Given the description of an element on the screen output the (x, y) to click on. 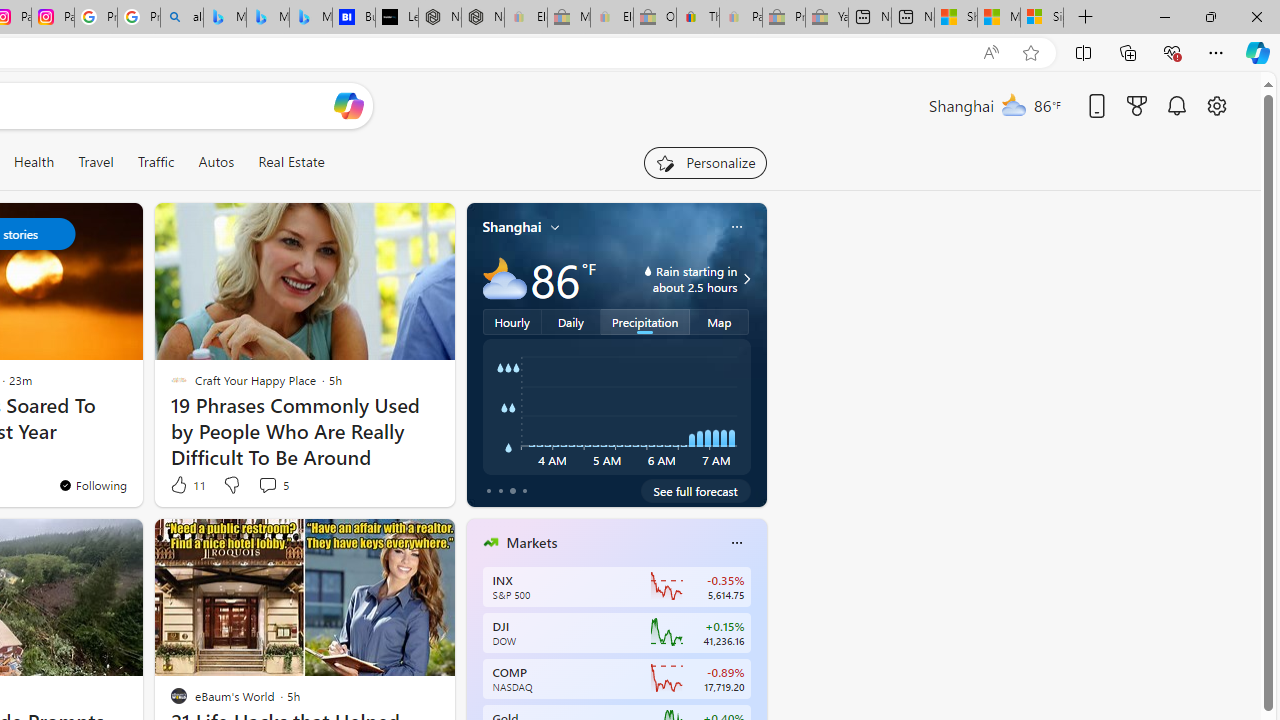
Mostly cloudy (504, 278)
water-drop-icon Rain starting in about 2.5 hours (674, 278)
Mostly cloudy (504, 278)
Markets (531, 543)
tab-2 (511, 490)
Health (33, 162)
Autos (215, 161)
View comments 5 Comment (267, 485)
